Given the description of an element on the screen output the (x, y) to click on. 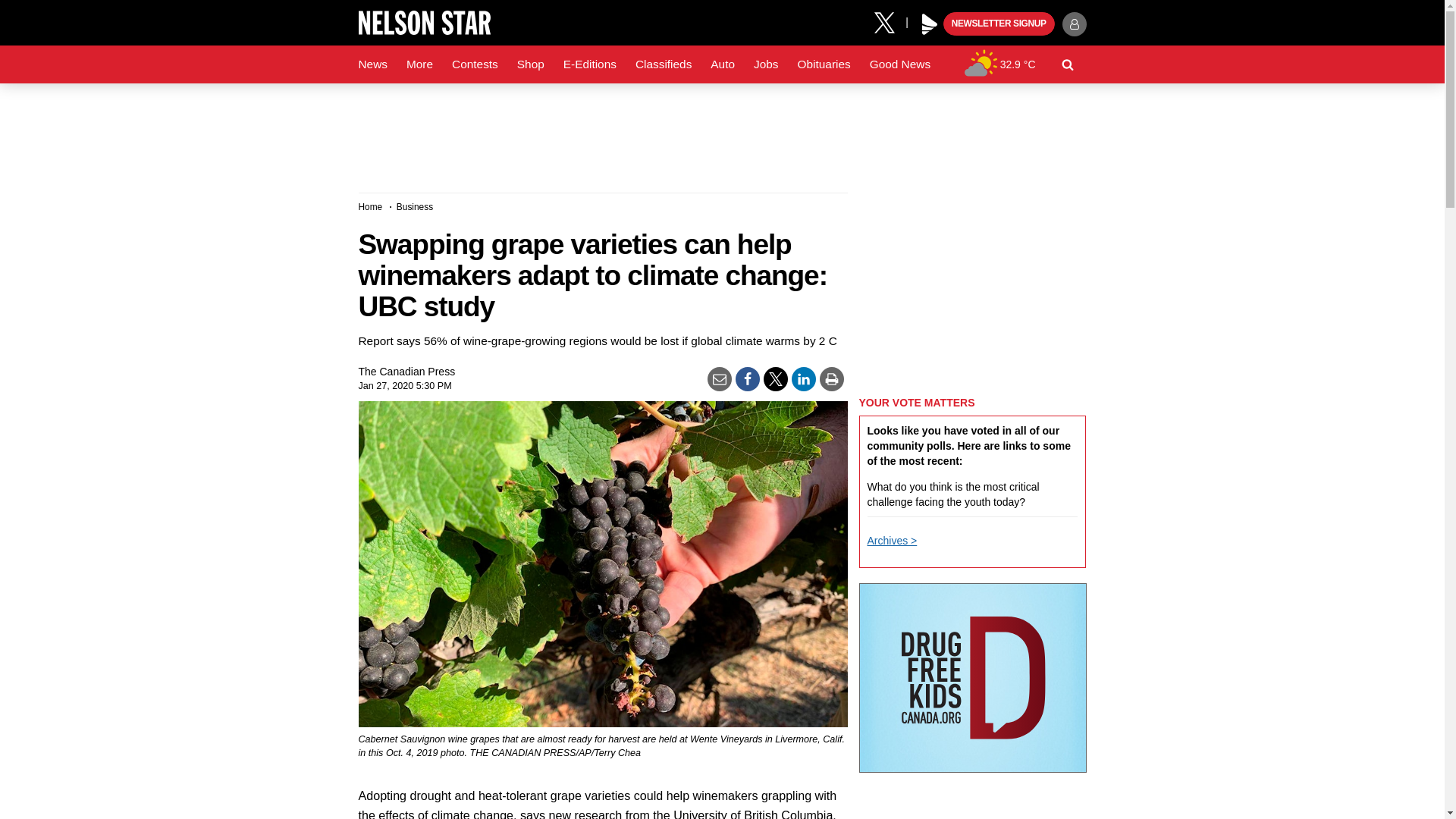
News (372, 64)
NEWSLETTER SIGNUP (998, 24)
3rd party ad content (972, 678)
3rd party ad content (721, 131)
3rd party ad content (972, 287)
Black Press Media (929, 24)
Play (929, 24)
X (889, 21)
